Given the description of an element on the screen output the (x, y) to click on. 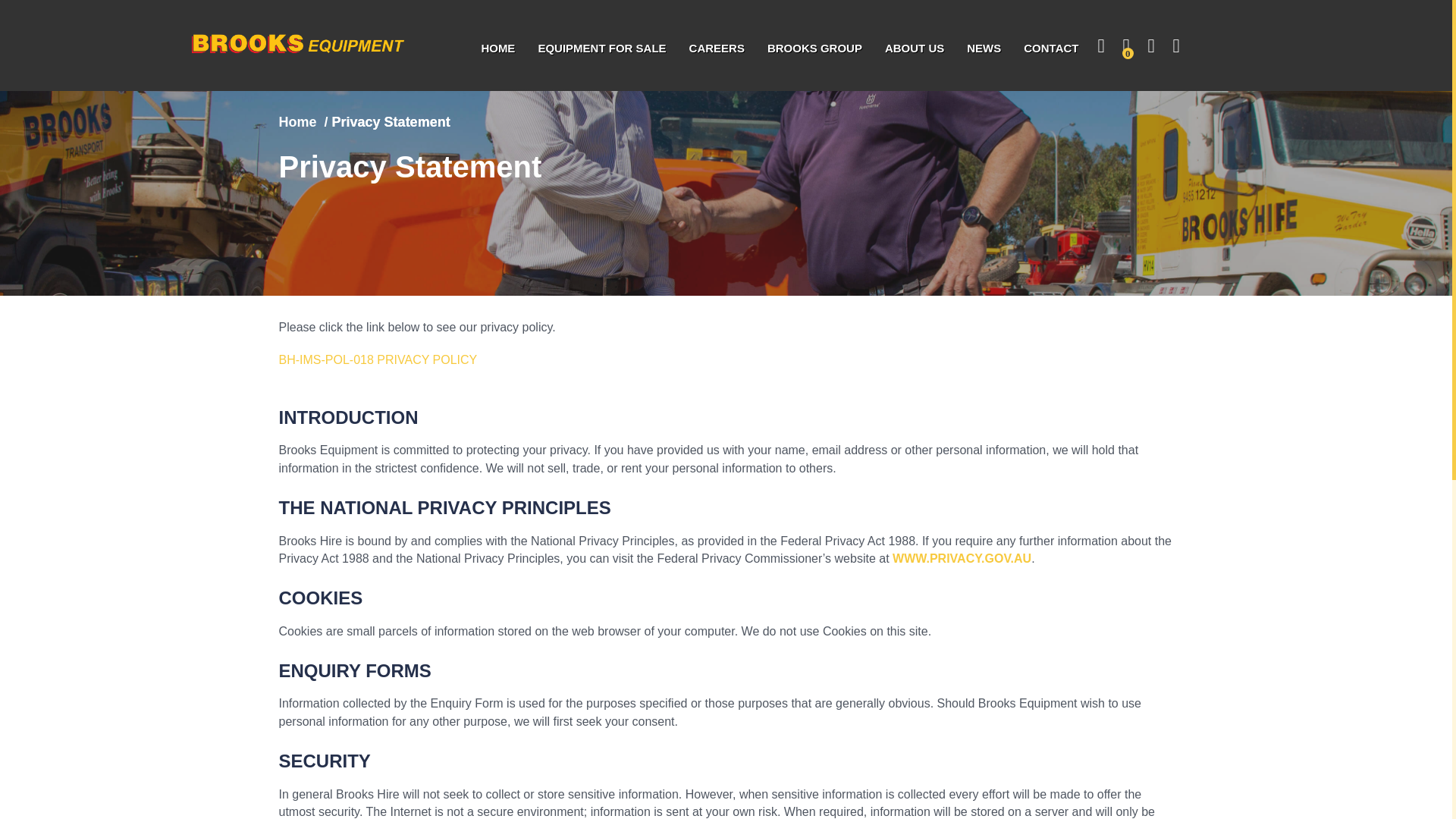
BROOKS GROUP (814, 48)
ABOUT US (914, 48)
CONTACT (1050, 48)
Company logo (305, 43)
HOME (496, 48)
NEWS (983, 48)
EQUIPMENT FOR SALE (601, 48)
CAREERS (716, 48)
